Given the description of an element on the screen output the (x, y) to click on. 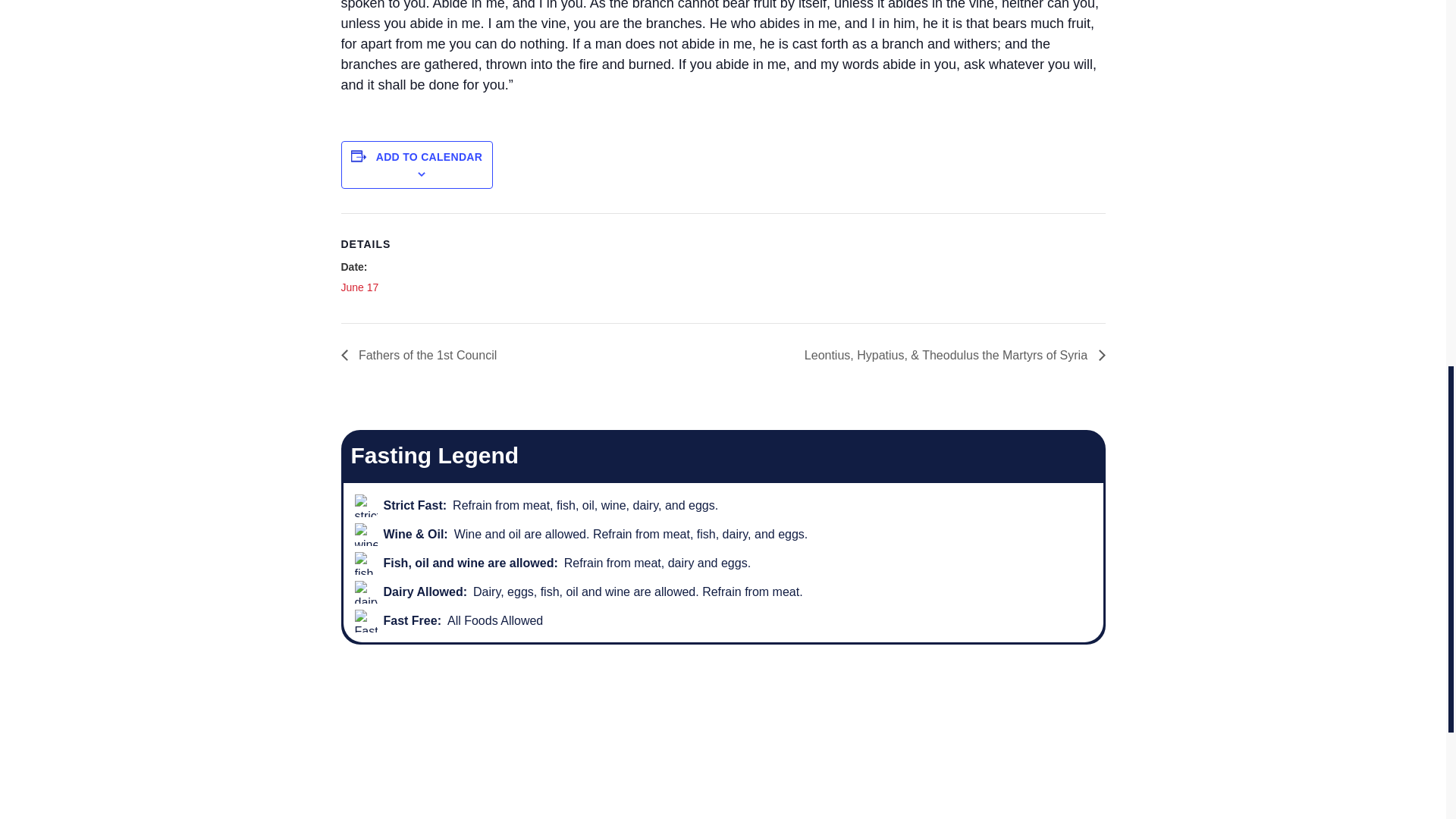
2024-06-17 (359, 287)
